Given the description of an element on the screen output the (x, y) to click on. 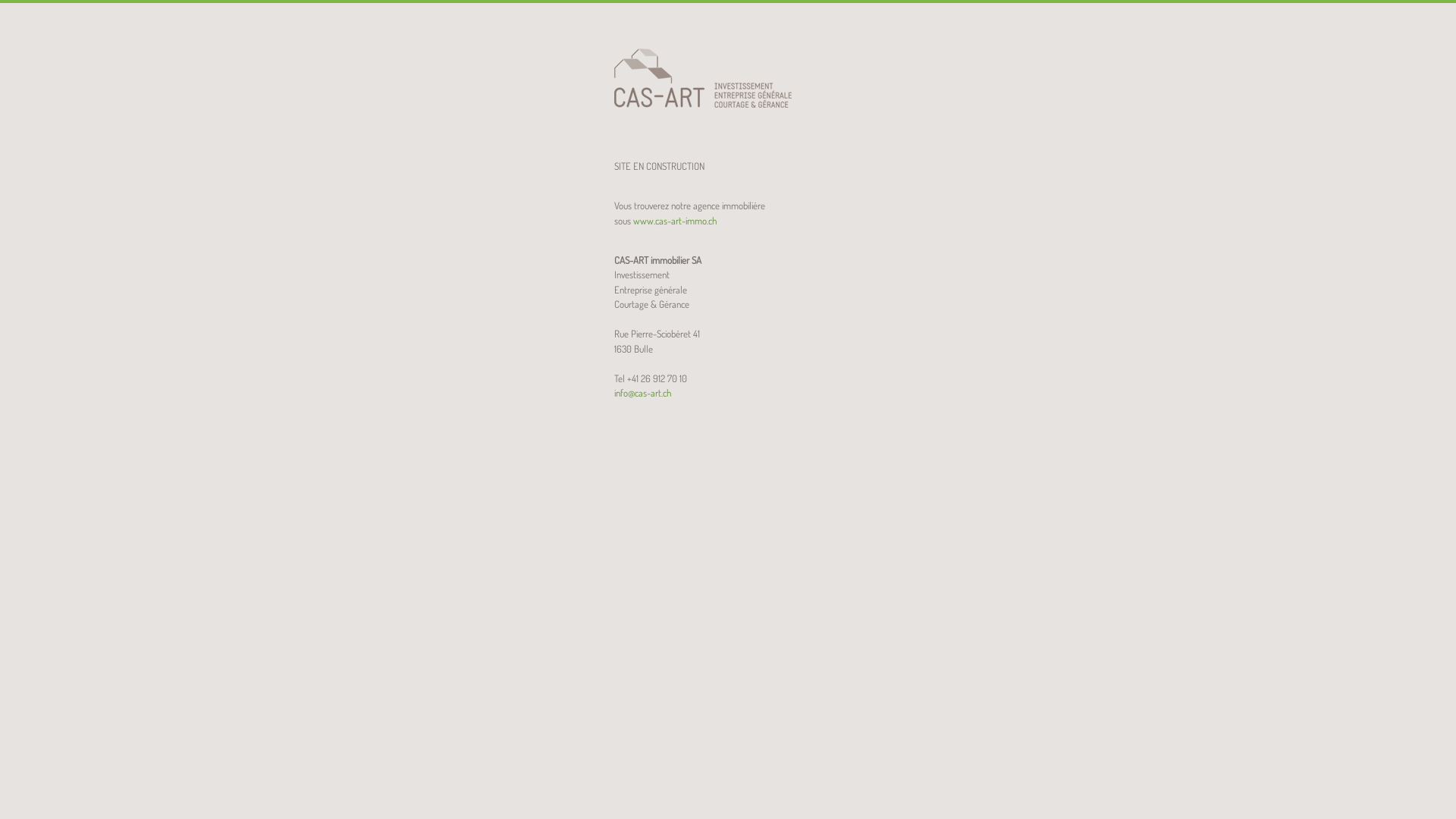
www.cas-art-immo.ch Element type: text (674, 219)
info@cas-art.ch Element type: text (642, 392)
